Given the description of an element on the screen output the (x, y) to click on. 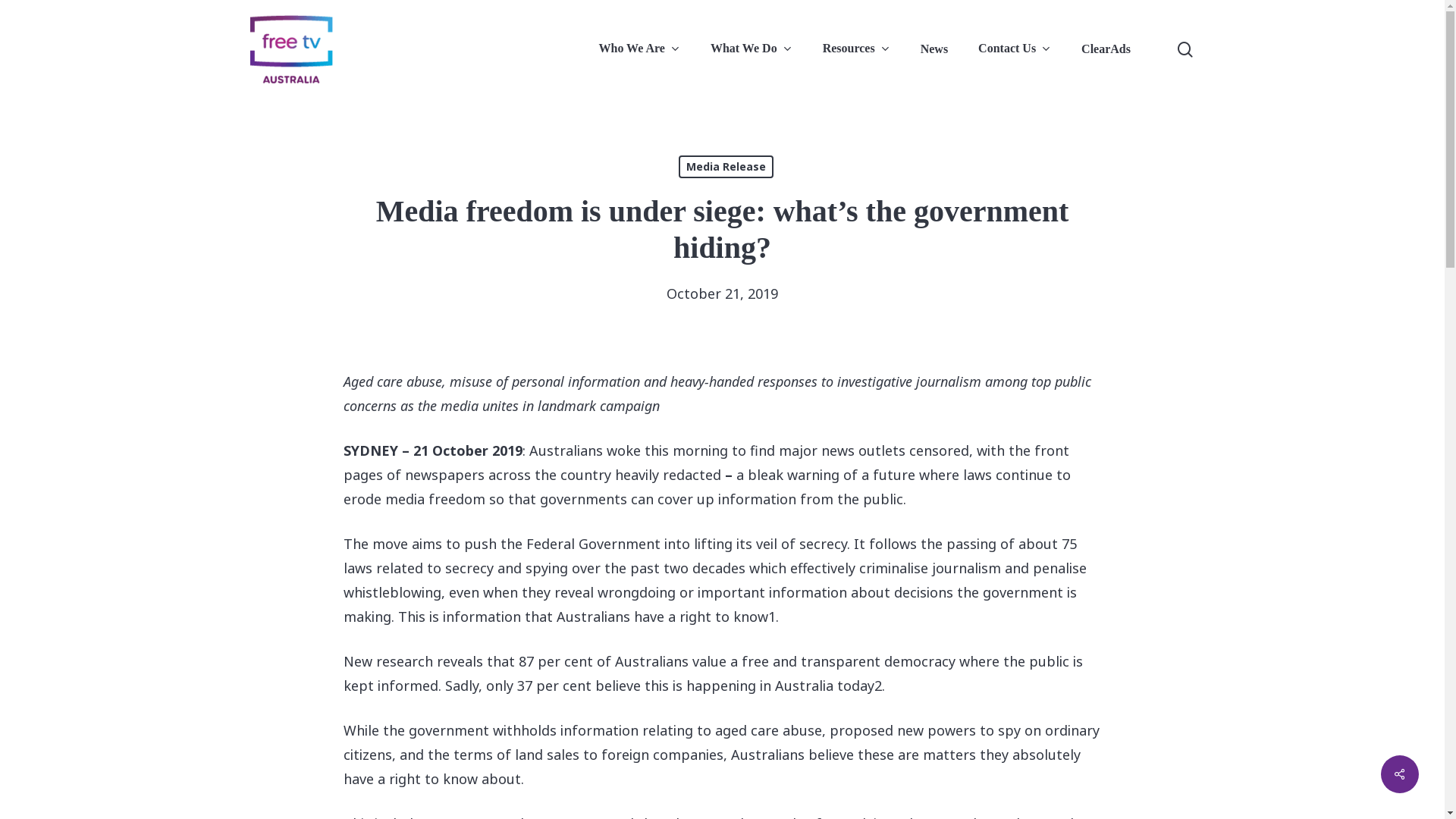
search Element type: text (1185, 48)
ClearAds Element type: text (1105, 49)
Resources Element type: text (856, 48)
Who We Are Element type: text (639, 48)
Media Release Element type: text (724, 166)
Contact Us Element type: text (1014, 48)
What We Do Element type: text (751, 48)
News Element type: text (934, 49)
